Given the description of an element on the screen output the (x, y) to click on. 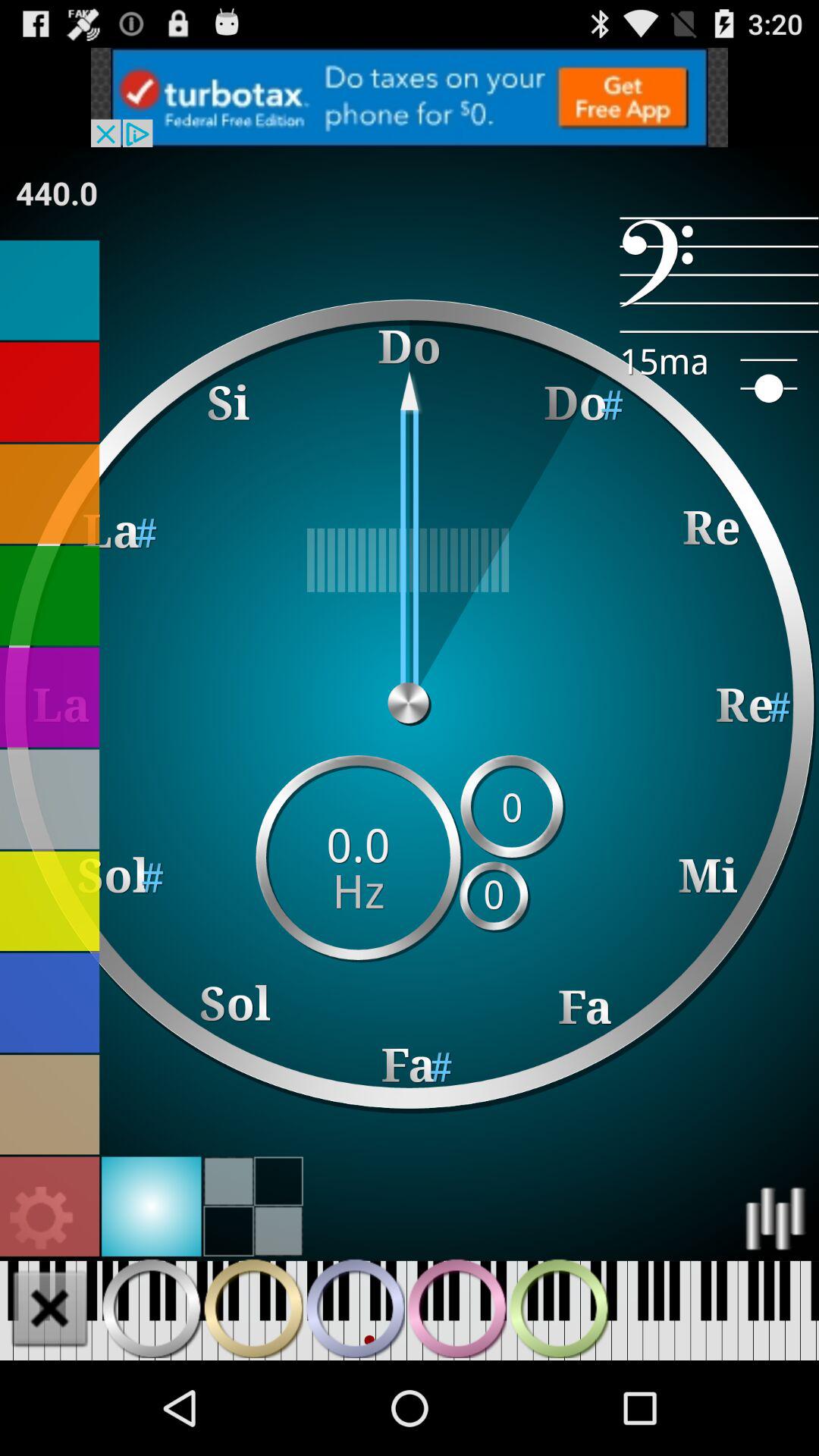
its a green box that changes color of background (49, 595)
